Given the description of an element on the screen output the (x, y) to click on. 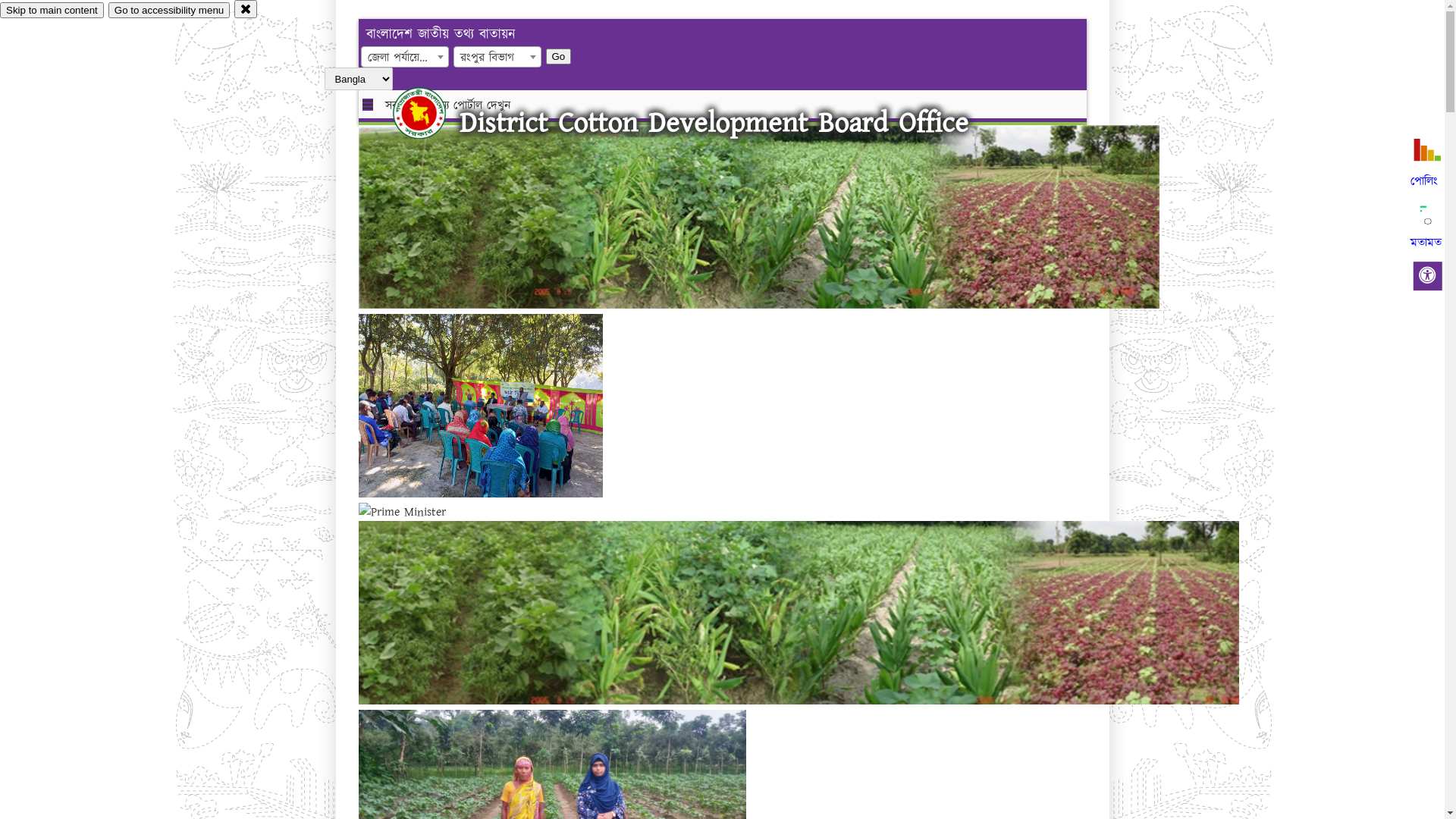

                
             Element type: hover (431, 112)
close Element type: hover (245, 9)
Go Element type: text (466, 56)
District Cotton Development Board Office Element type: text (713, 123)
Go to accessibility menu Element type: text (168, 10)
Skip to main content Element type: text (51, 10)
